Given the description of an element on the screen output the (x, y) to click on. 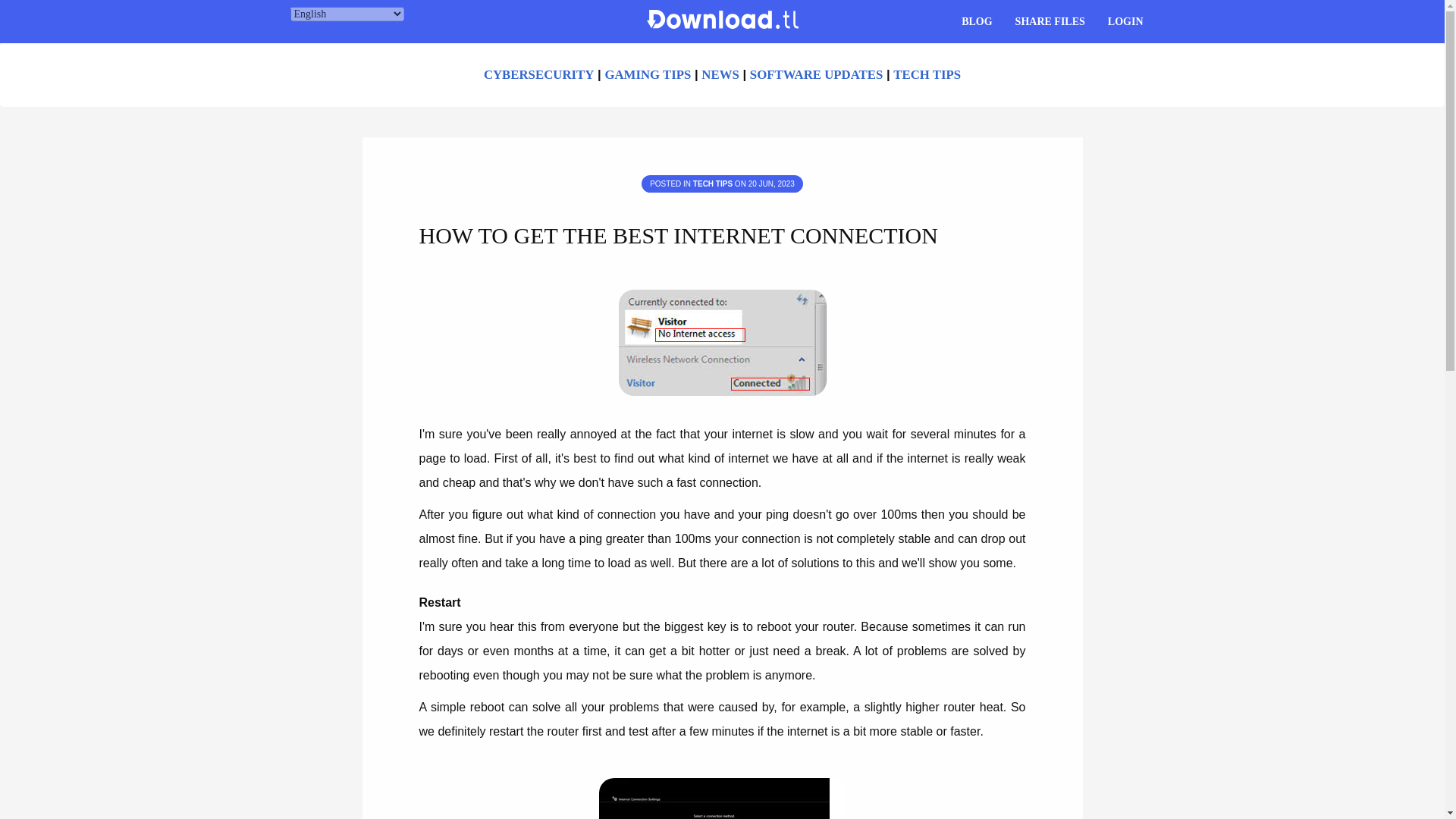
NEWS (719, 74)
BLOG (976, 21)
GAMING TIPS (647, 74)
CYBERSECURITY (538, 74)
TECH TIPS (712, 183)
SOFTWARE UPDATES (815, 74)
TECH TIPS (926, 74)
LOGIN (1125, 21)
SHARE FILES (1050, 21)
